Given the description of an element on the screen output the (x, y) to click on. 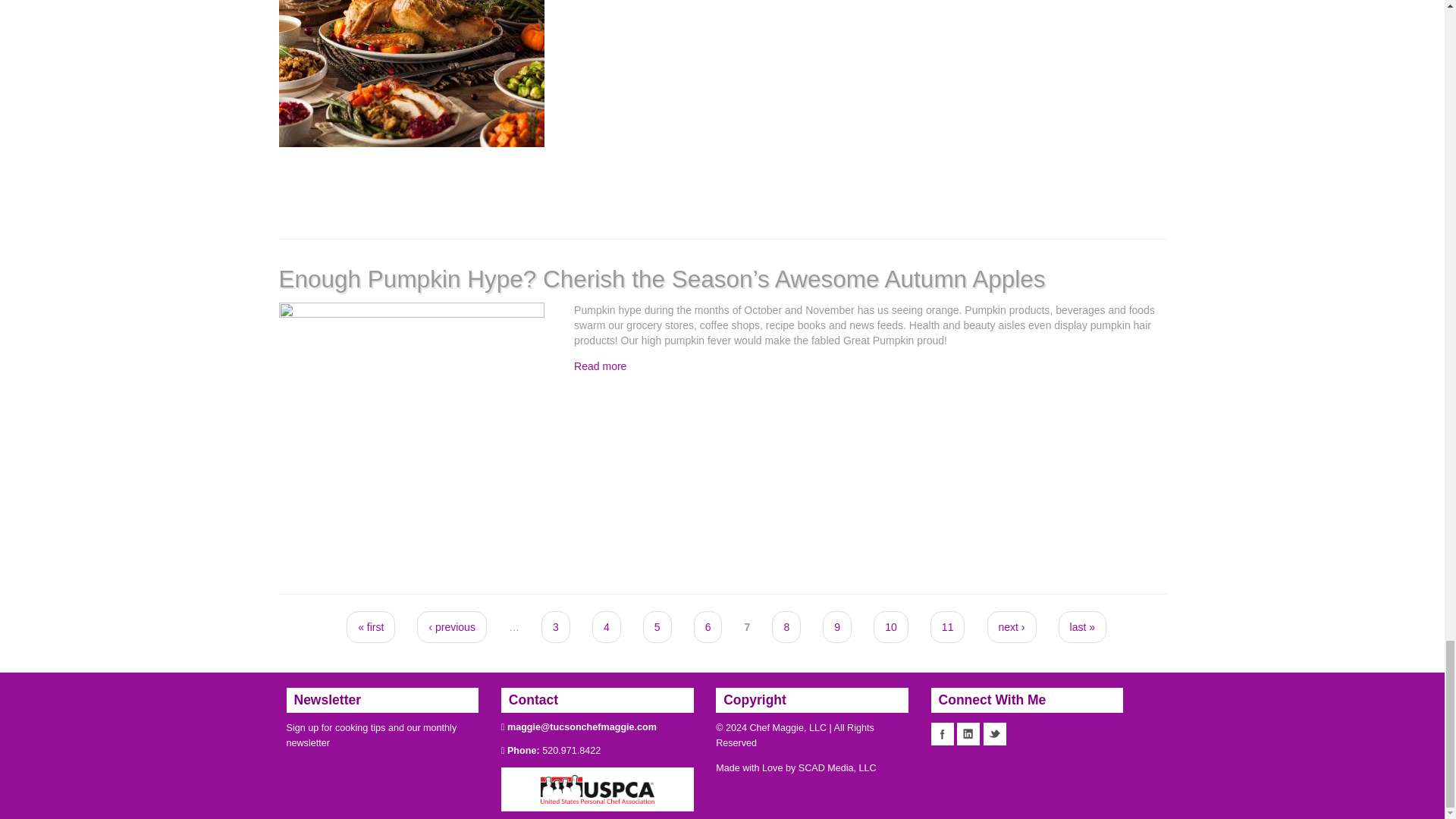
Go to page 5 (657, 626)
Go to previous page (451, 626)
Go to page 9 (836, 626)
8 (785, 626)
Facebook (942, 733)
Twitter (995, 733)
Go to page 4 (606, 626)
Go to page 10 (890, 626)
Go to last page (1082, 626)
Go to page 8 (785, 626)
Go to page 3 (555, 626)
Go to page 11 (947, 626)
Read more (599, 366)
Go to next page (1011, 626)
6 (708, 626)
